Given the description of an element on the screen output the (x, y) to click on. 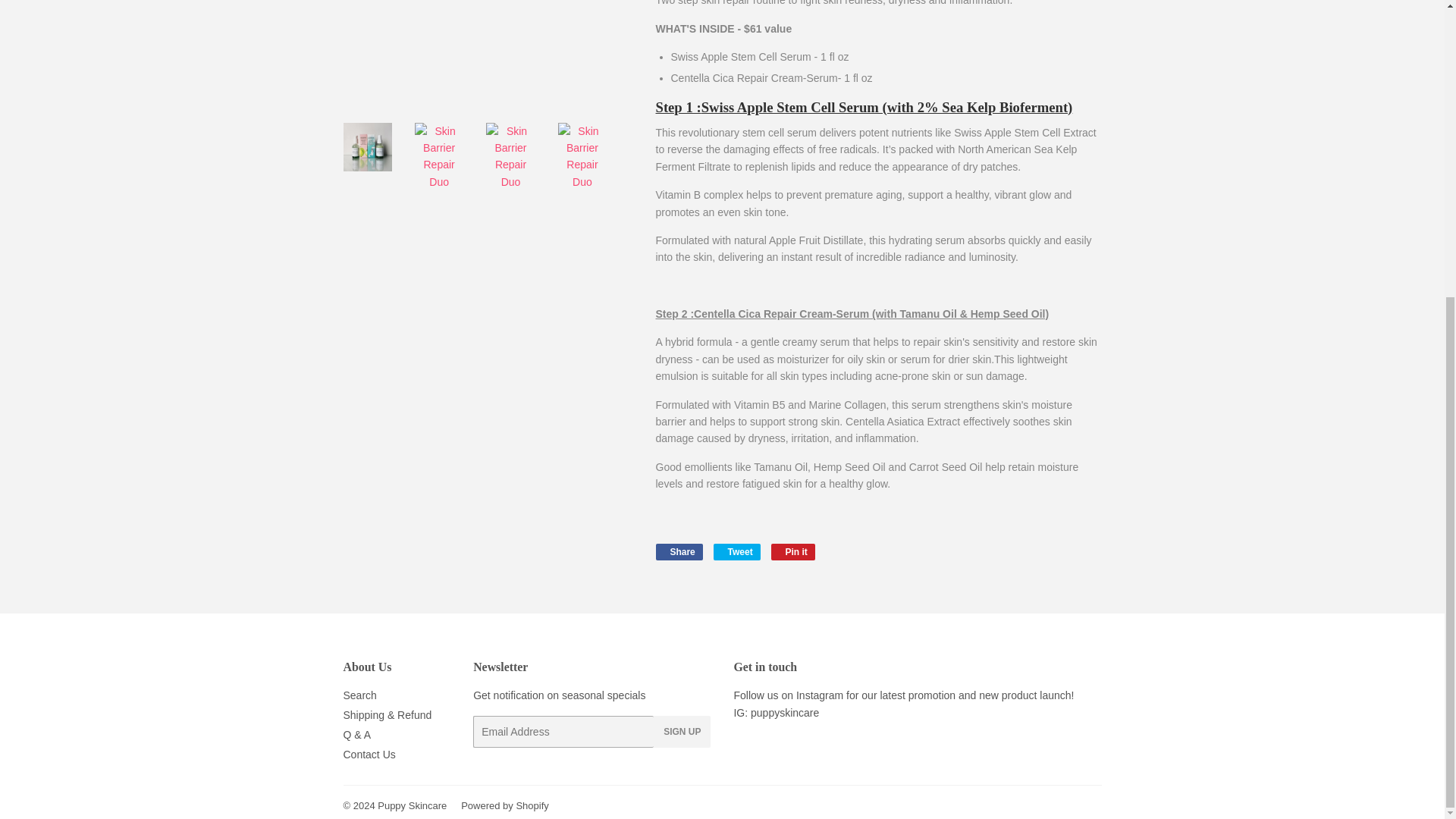
Tweet on Twitter (736, 551)
Pin on Pinterest (793, 551)
Share on Facebook (678, 551)
